Given the description of an element on the screen output the (x, y) to click on. 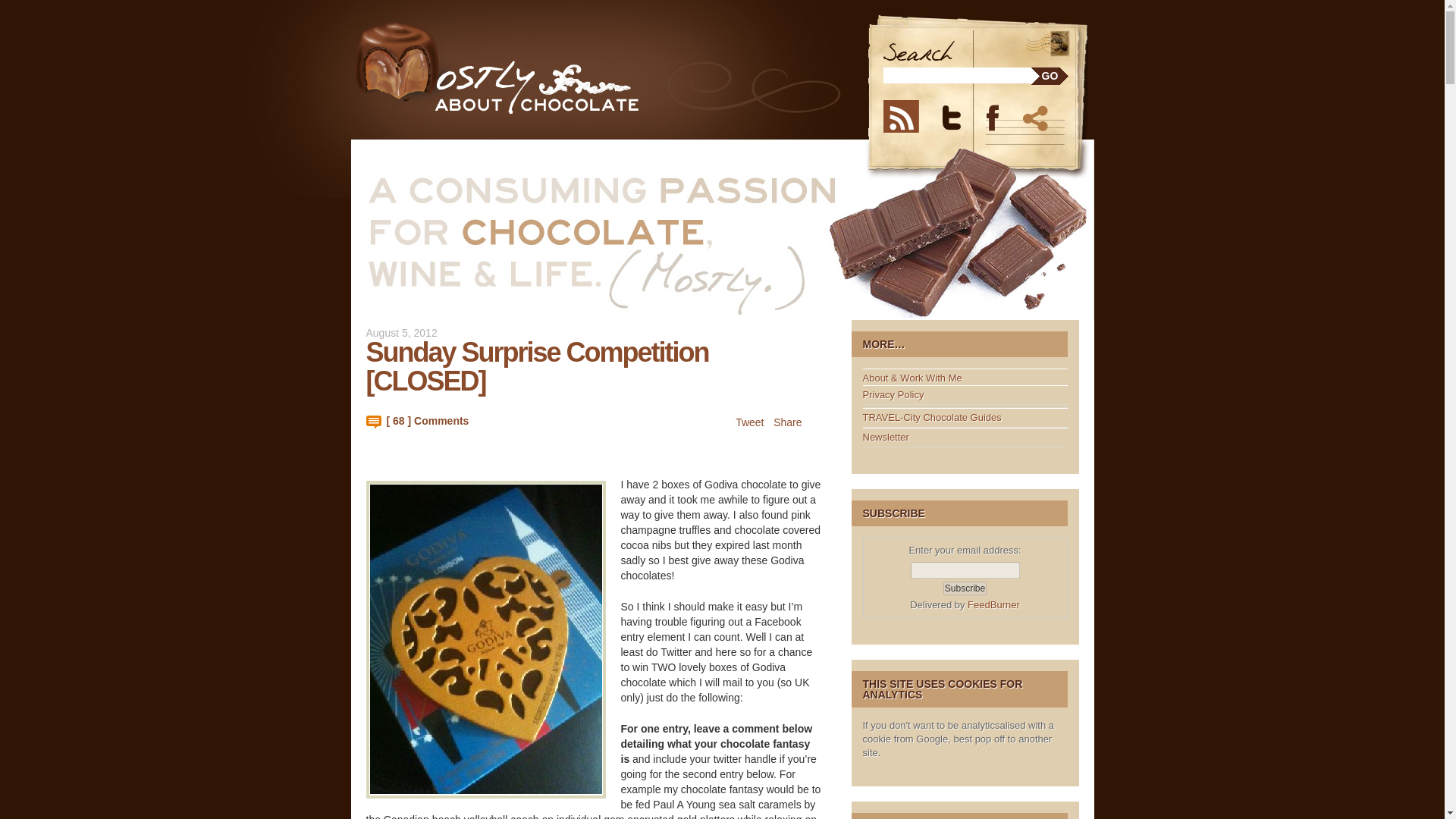
GO (1049, 76)
Share (787, 422)
FaceBook (1000, 115)
Share (1038, 115)
Mostly About Chocolate Blog (525, 67)
Subscribe (965, 588)
Twitter (960, 115)
Mostly About Chocolate Blog (525, 67)
Tweet (748, 422)
RSS (909, 115)
